Given the description of an element on the screen output the (x, y) to click on. 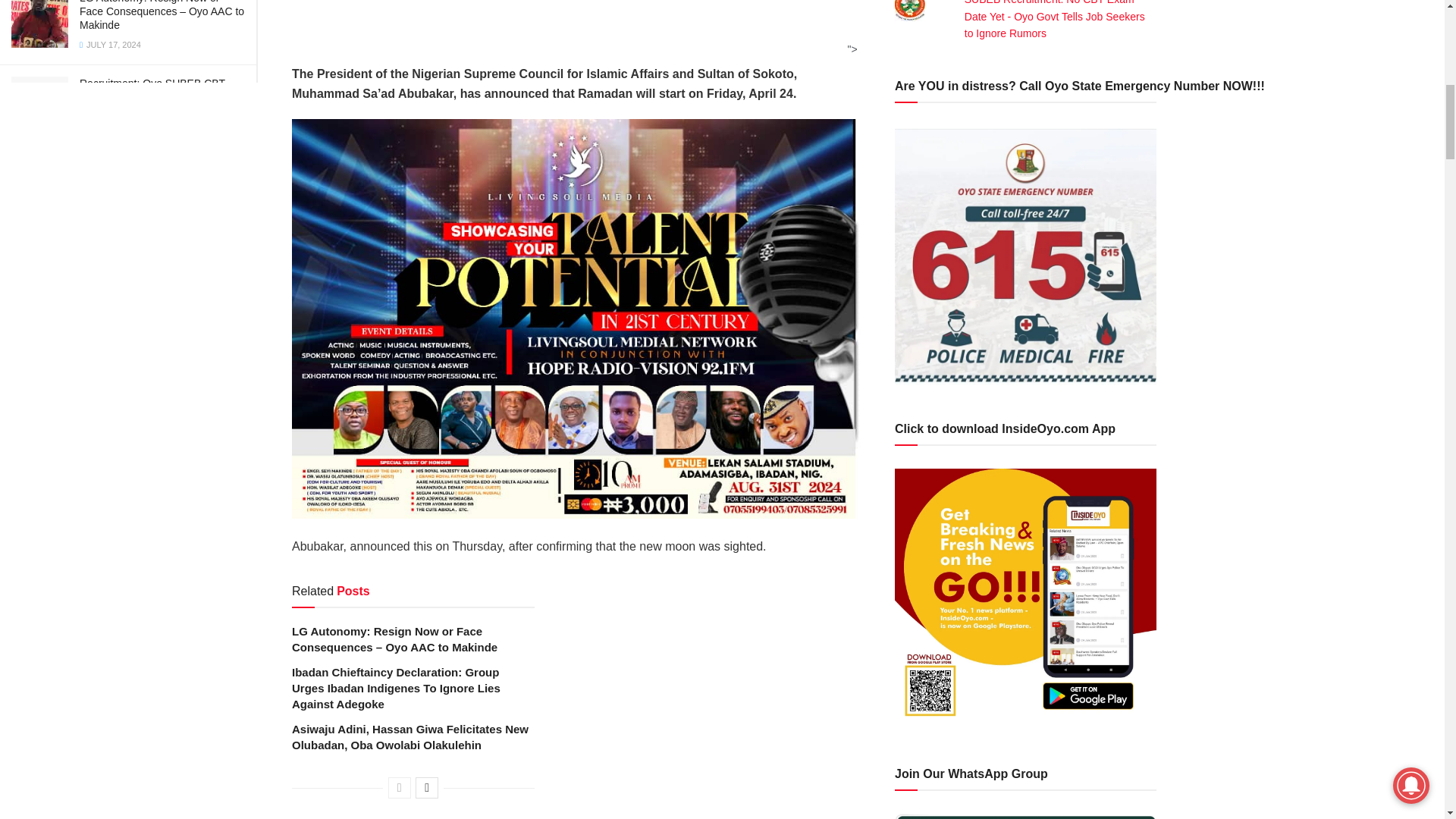
Next (426, 787)
Advertisement (571, 26)
Previous (399, 787)
